Given the description of an element on the screen output the (x, y) to click on. 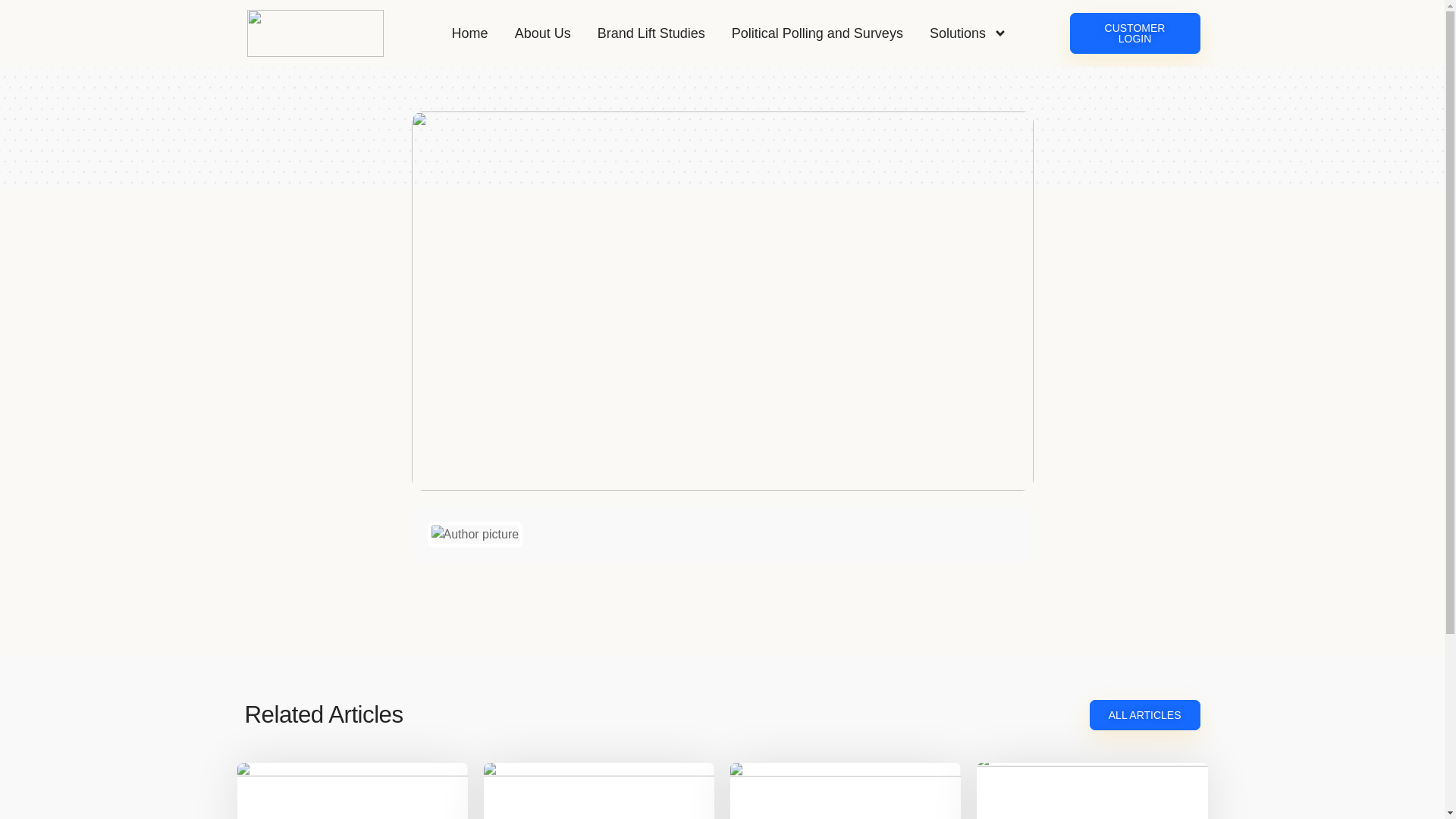
Political Polling and Surveys (817, 32)
CUSTOMER LOGIN (1133, 33)
Brand Lift Studies (650, 32)
About Us (542, 32)
ALL ARTICLES (1144, 715)
Solutions (968, 32)
